Given the description of an element on the screen output the (x, y) to click on. 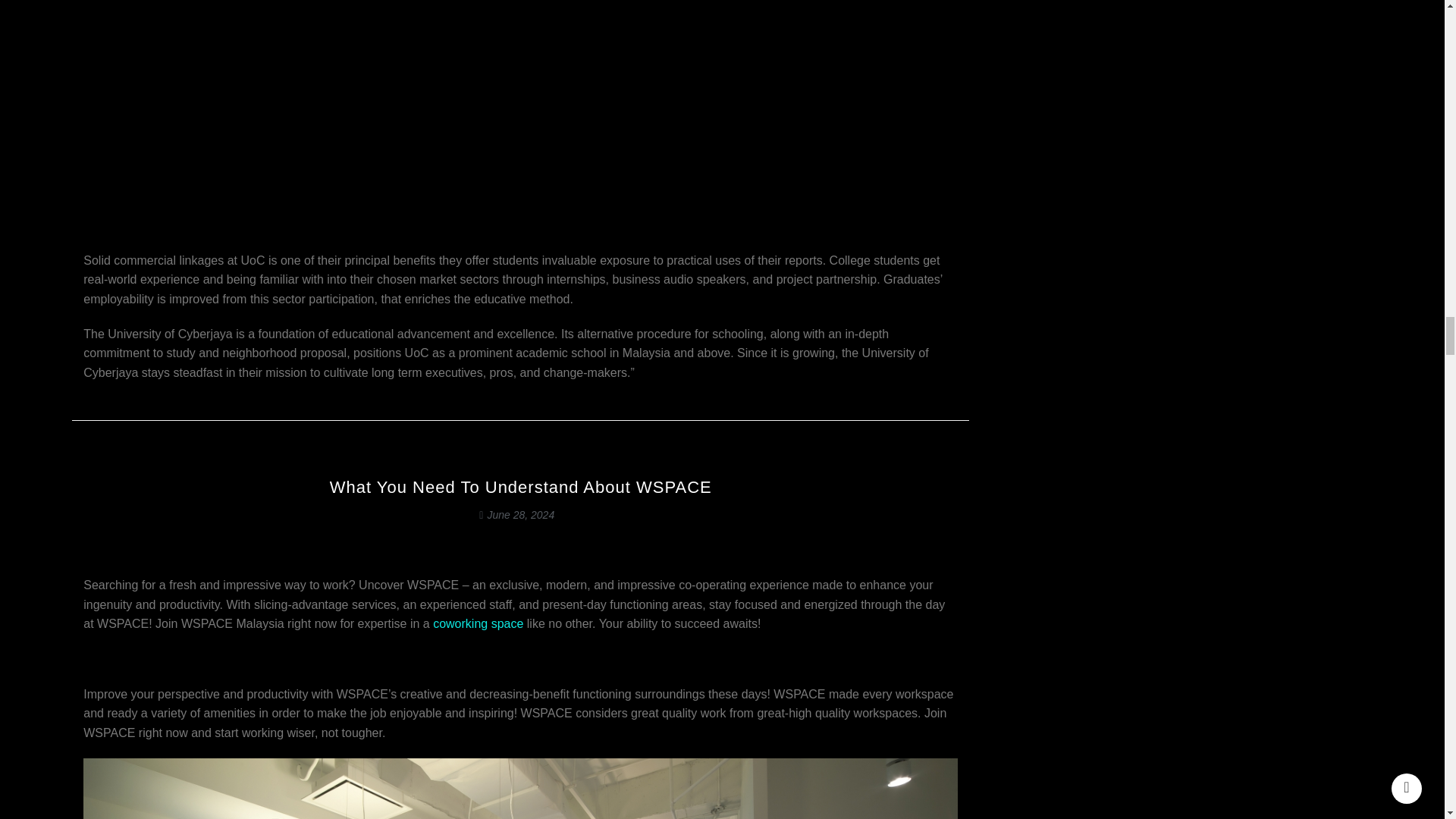
University of Cyberjaya - Unleashing Changemakers (116, 101)
